Given the description of an element on the screen output the (x, y) to click on. 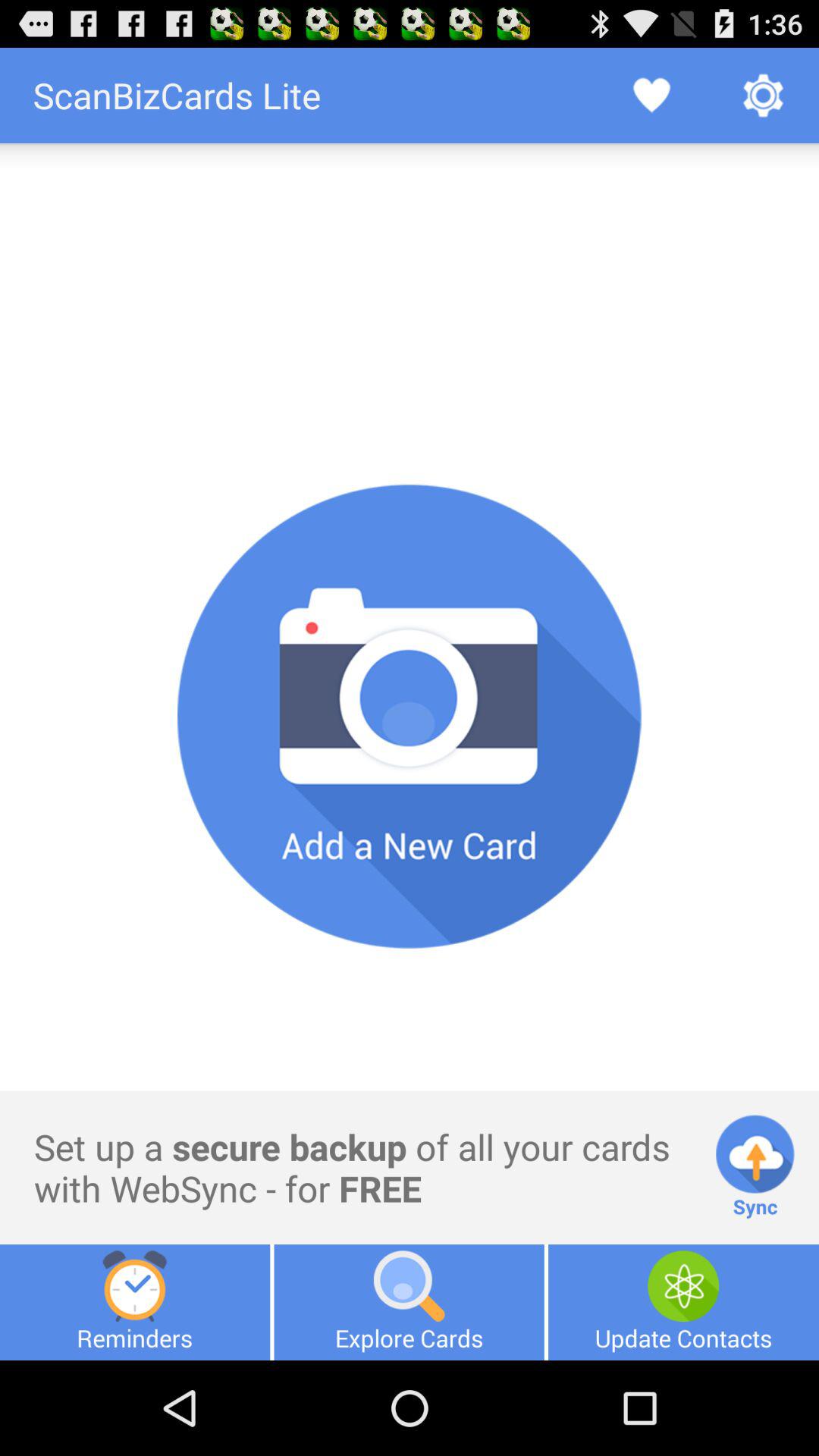
tap button next to explore cards item (683, 1302)
